Given the description of an element on the screen output the (x, y) to click on. 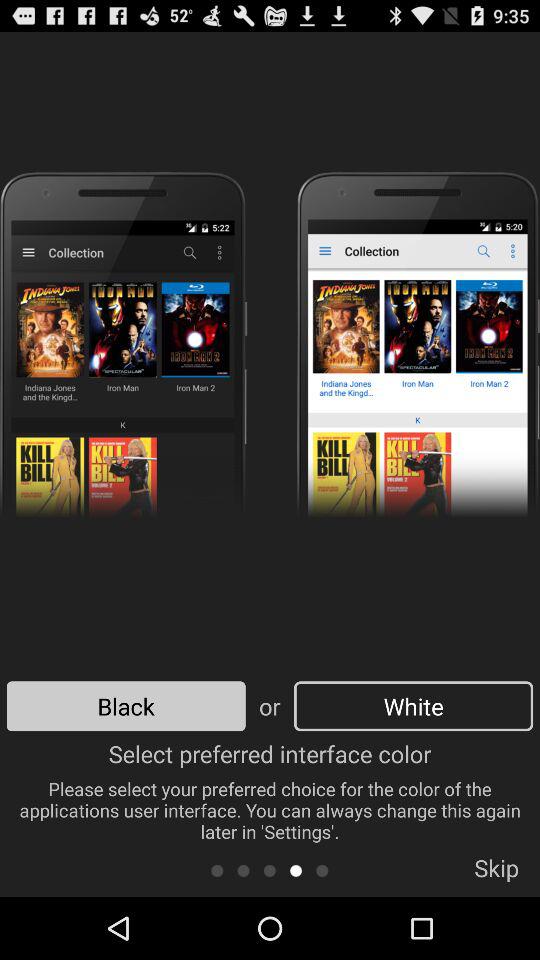
flip to the white icon (413, 706)
